Given the description of an element on the screen output the (x, y) to click on. 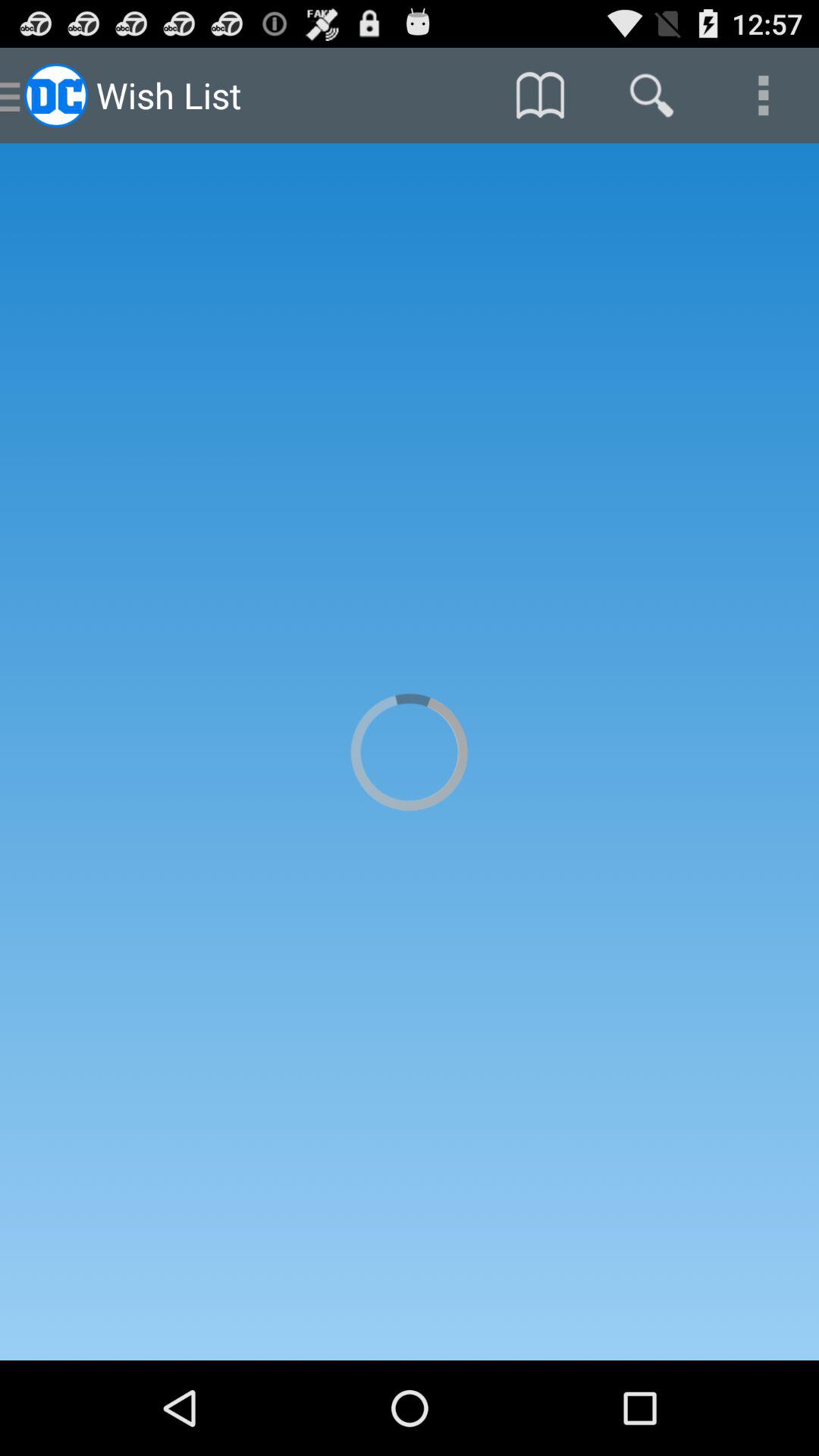
launch the icon above there are no icon (651, 95)
